Given the description of an element on the screen output the (x, y) to click on. 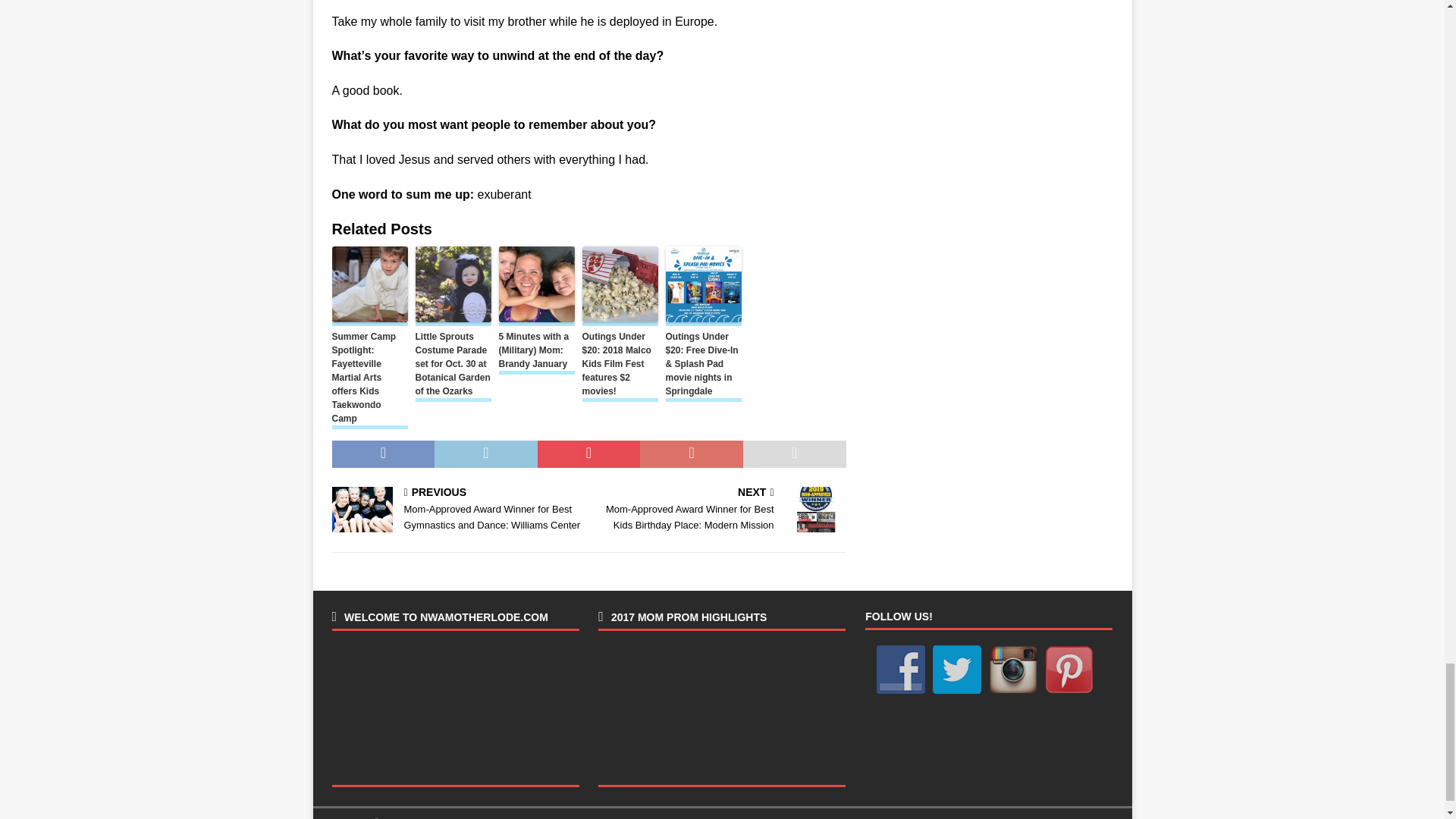
Follow Us on Facebook (900, 668)
